Given the description of an element on the screen output the (x, y) to click on. 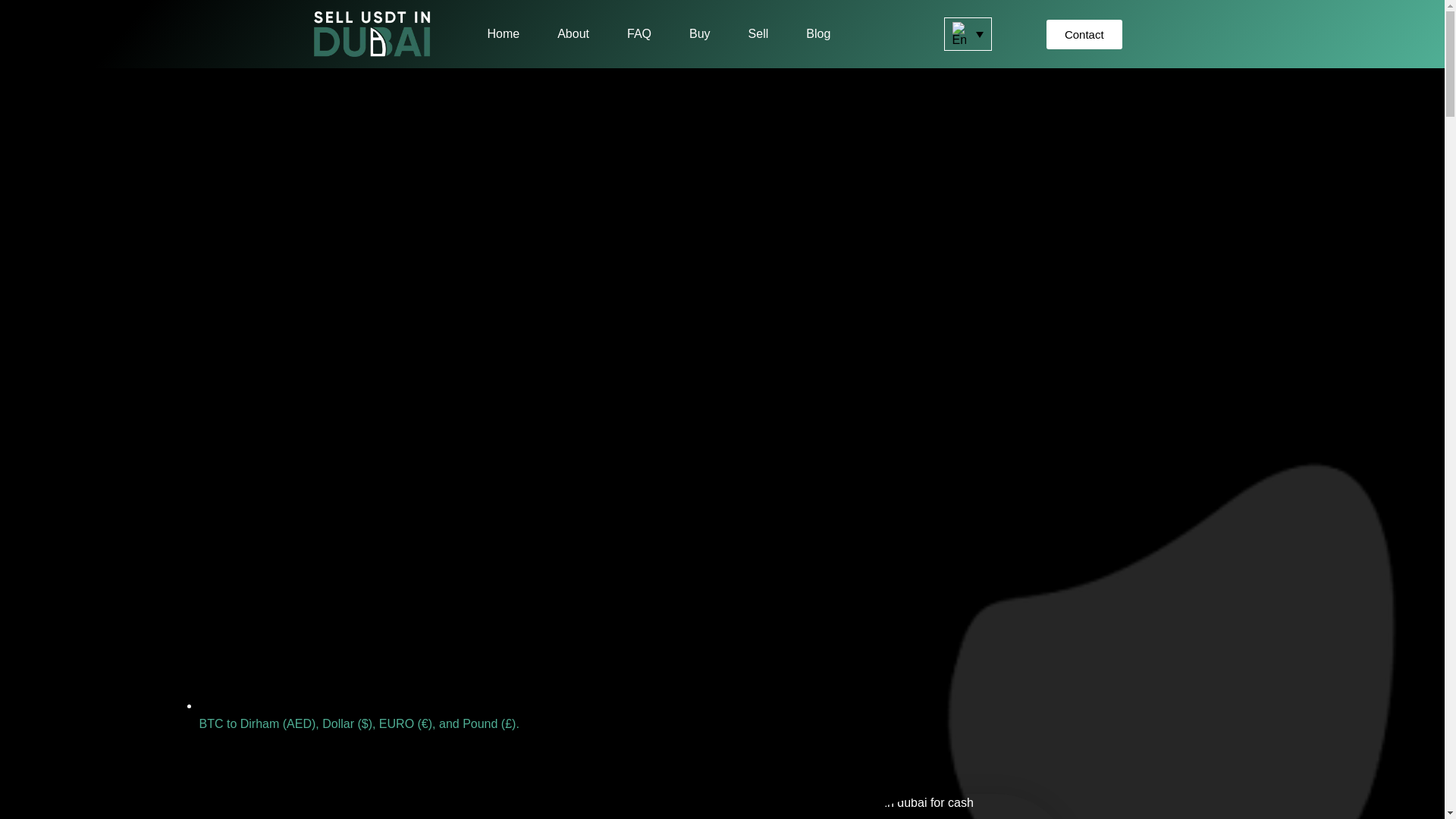
Sell Btc In Dubai For Cash (900, 806)
Blog (817, 33)
Home (502, 33)
Sell (758, 33)
FAQ (638, 33)
Contact (1084, 34)
About (573, 33)
Buy (699, 33)
